Given the description of an element on the screen output the (x, y) to click on. 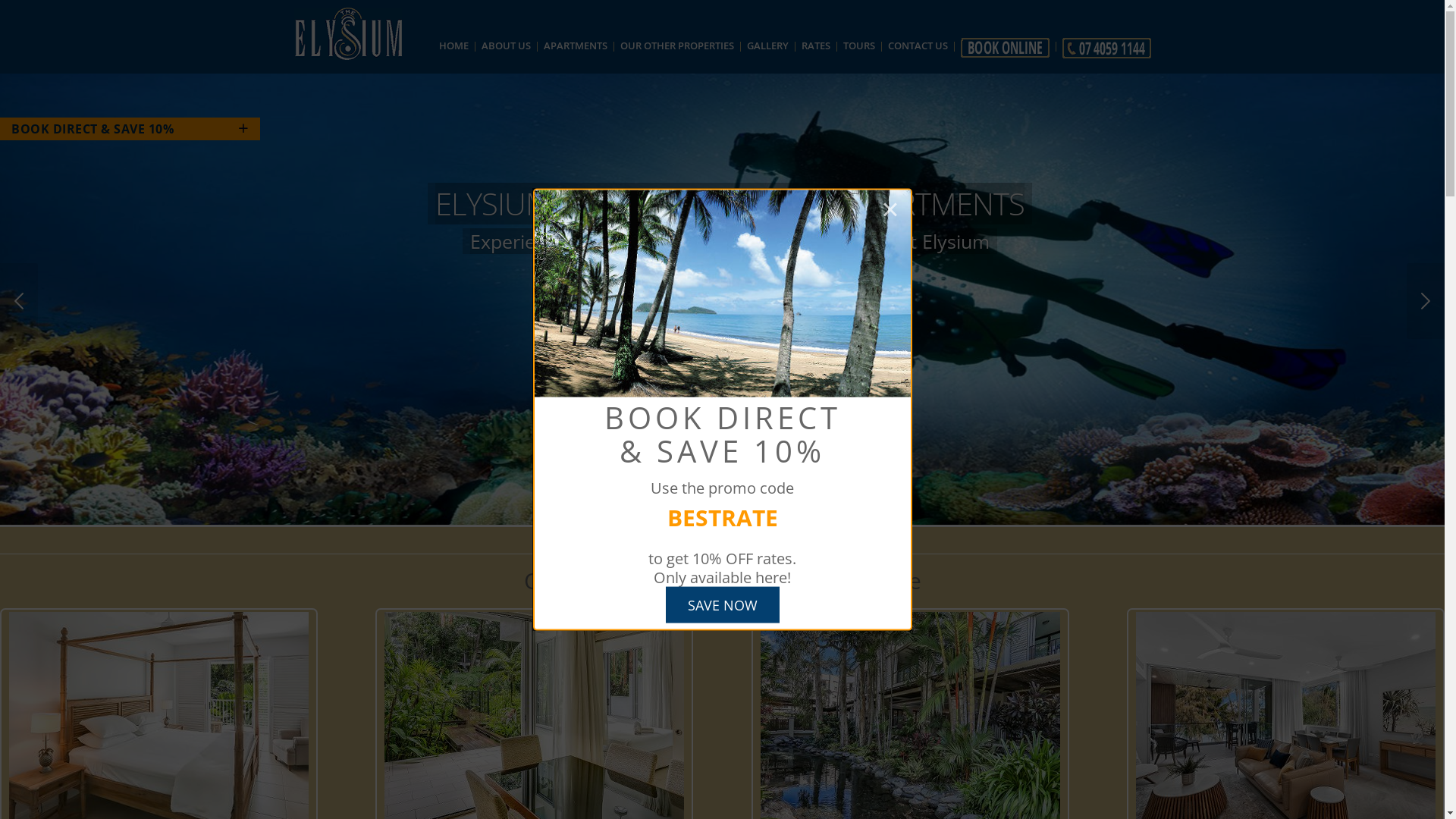
Next Element type: text (1425, 300)
APARTMENTS Element type: text (575, 45)
RATES Element type: text (815, 45)
OUR OTHER PROPERTIES Element type: text (676, 45)
HOME Element type: text (453, 45)
TOURS Element type: text (858, 45)
5 Element type: text (748, 459)
Elysium Apartments Element type: text (635, 458)
e: info@elysiumpalmcove.com.au Element type: text (389, 533)
7 Element type: text (801, 459)
SAVE NOW Element type: text (722, 604)
4 Element type: text (722, 459)
Website Design Element type: hover (725, 777)
ABOUT US Element type: text (505, 45)
3 Element type: text (695, 459)
CONTACT US Element type: text (917, 45)
6 Element type: text (775, 459)
Previous Element type: text (18, 300)
GALLERY Element type: text (767, 45)
2 Element type: text (669, 459)
1 Element type: text (641, 459)
+ Element type: text (213, 127)
BOOK ONLINE Element type: text (726, 270)
